Given the description of an element on the screen output the (x, y) to click on. 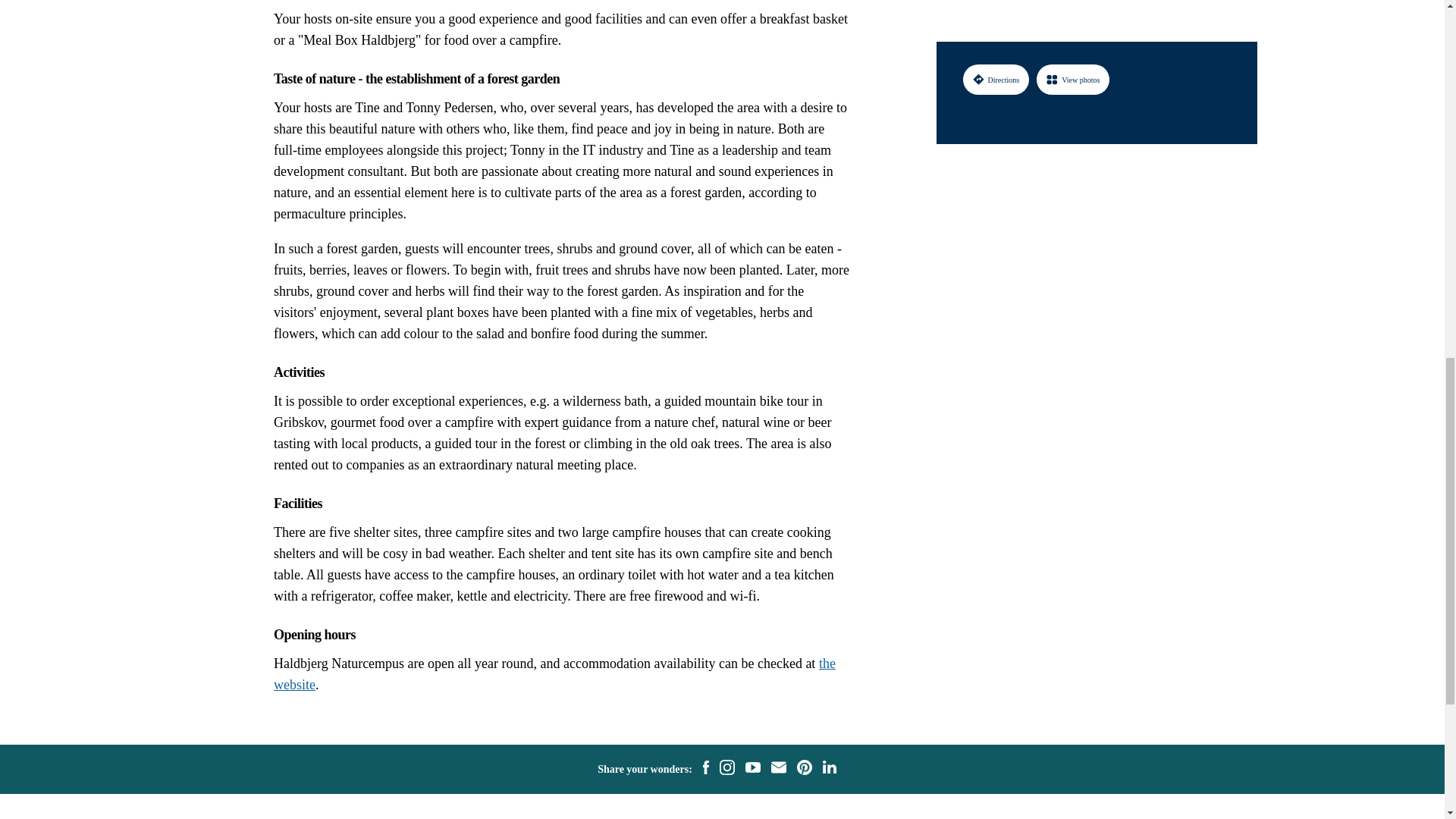
facebook (705, 769)
youtube (752, 769)
the website (554, 674)
newsletter (778, 769)
linkedin (828, 769)
pinterest (804, 769)
instagram (726, 769)
